Given the description of an element on the screen output the (x, y) to click on. 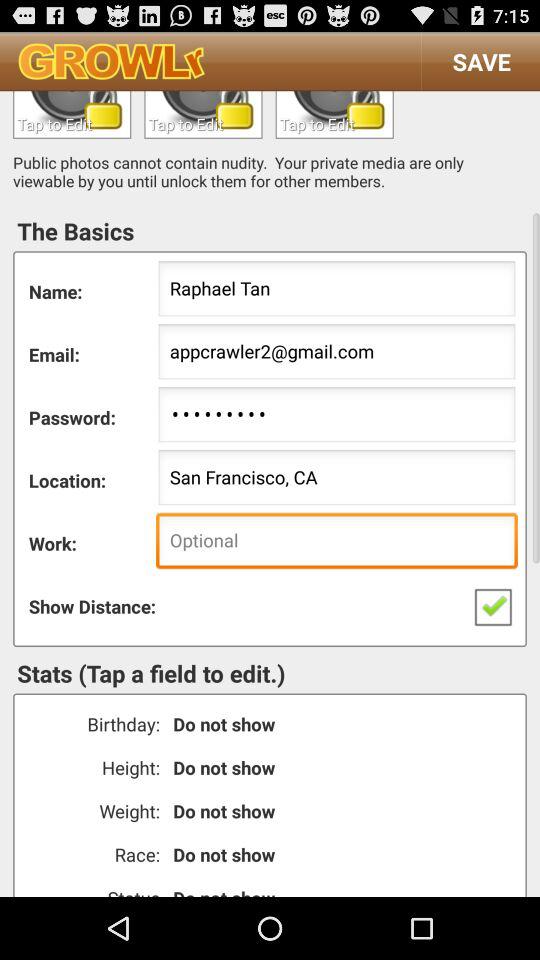
text box for work (334, 114)
